Given the description of an element on the screen output the (x, y) to click on. 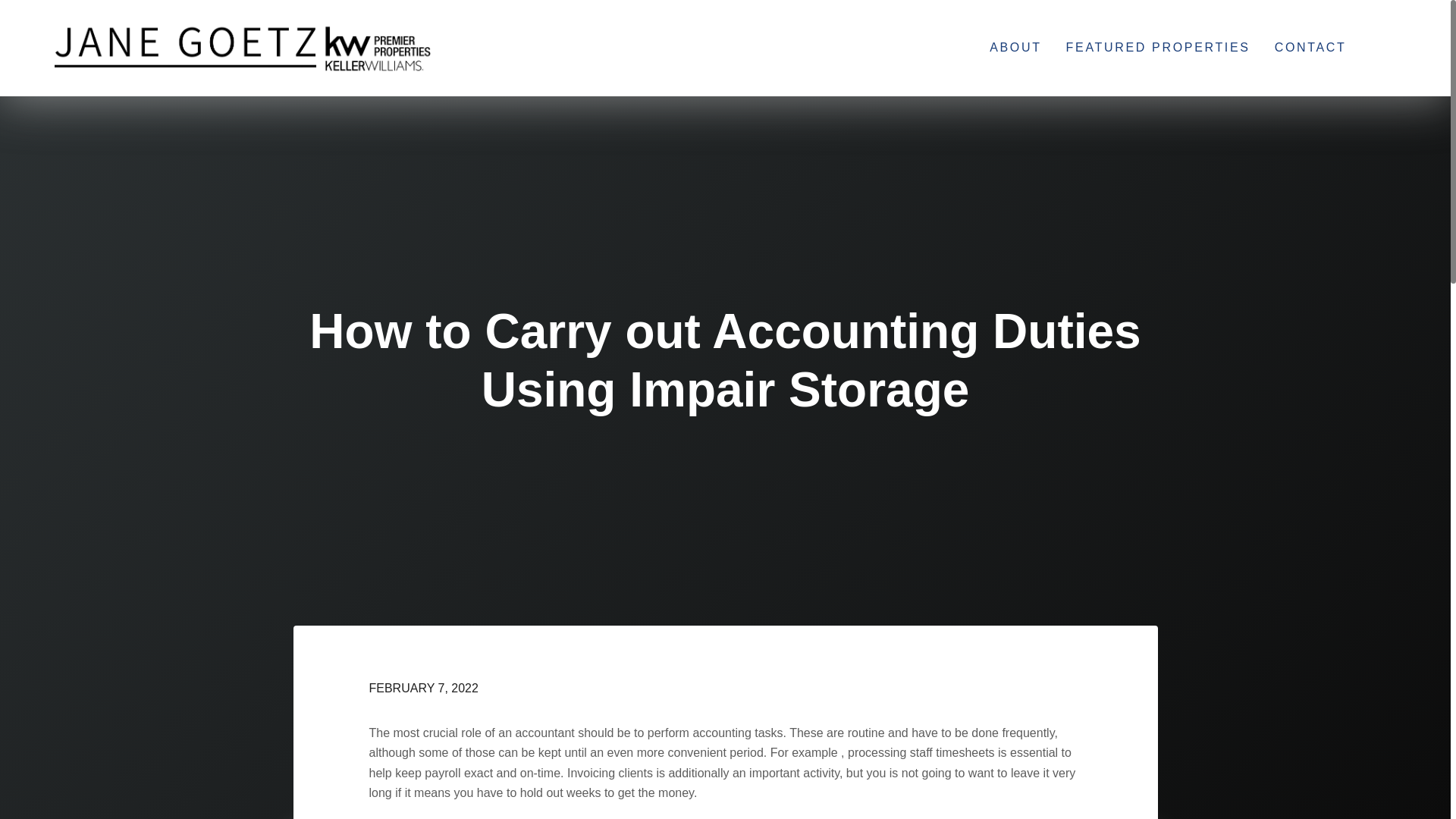
ABOUT (1015, 47)
CONTACT (1310, 47)
FEATURED PROPERTIES (1157, 47)
